Given the description of an element on the screen output the (x, y) to click on. 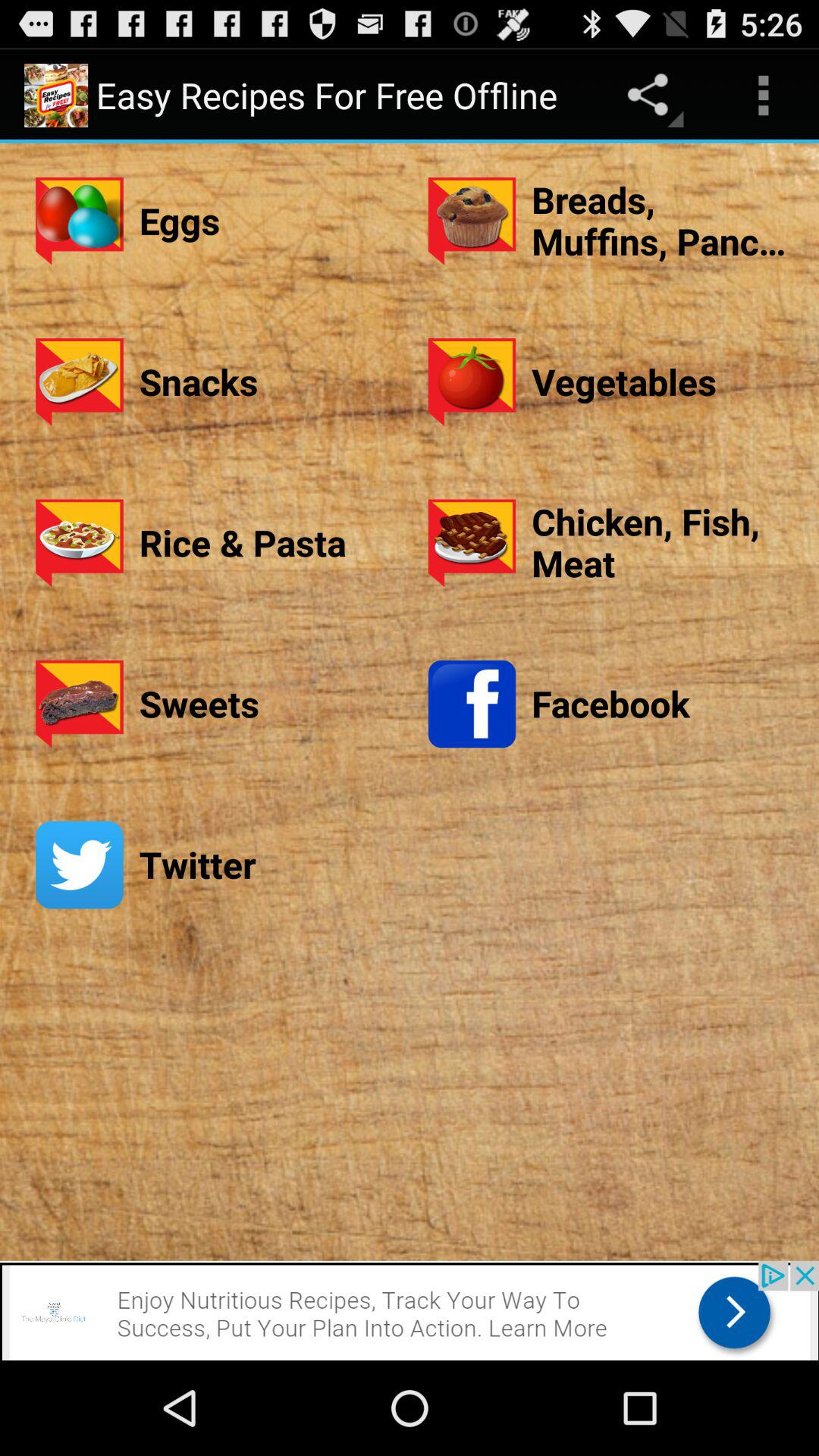
advertisement (409, 1310)
